Given the description of an element on the screen output the (x, y) to click on. 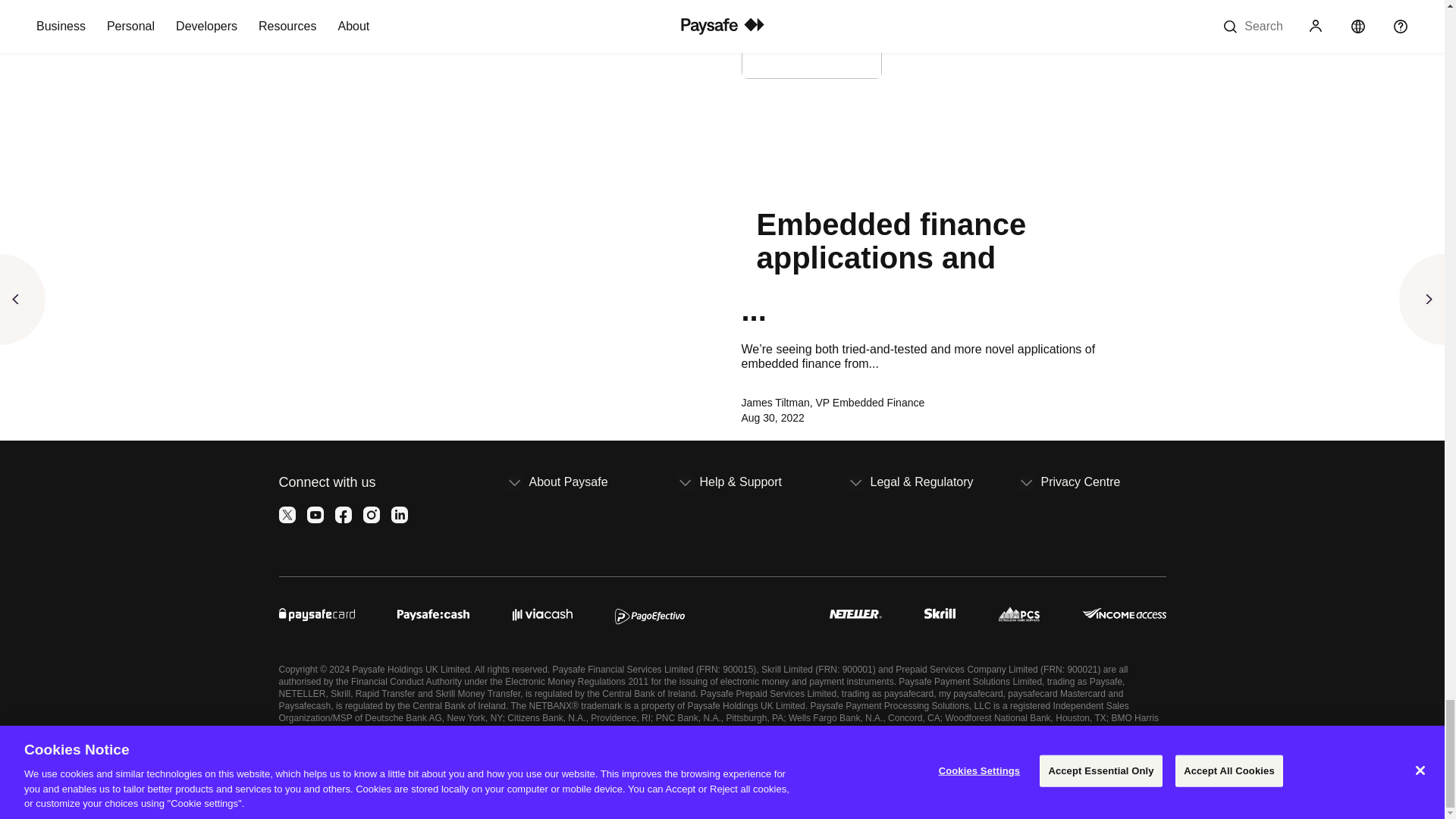
Paysafecash (432, 611)
Paysafecard (317, 611)
viacash (542, 611)
